Given the description of an element on the screen output the (x, y) to click on. 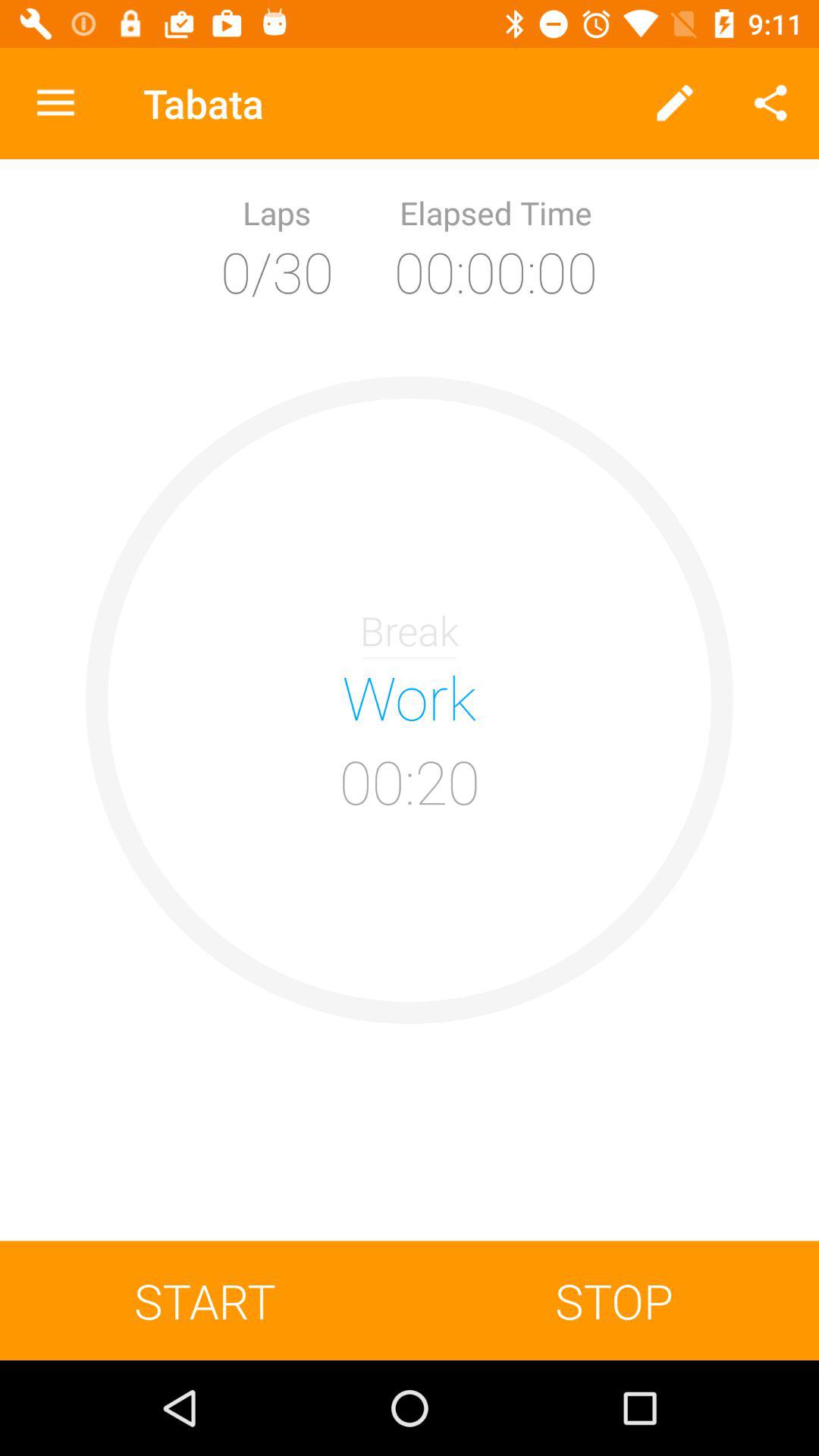
jump until stop (614, 1300)
